Given the description of an element on the screen output the (x, y) to click on. 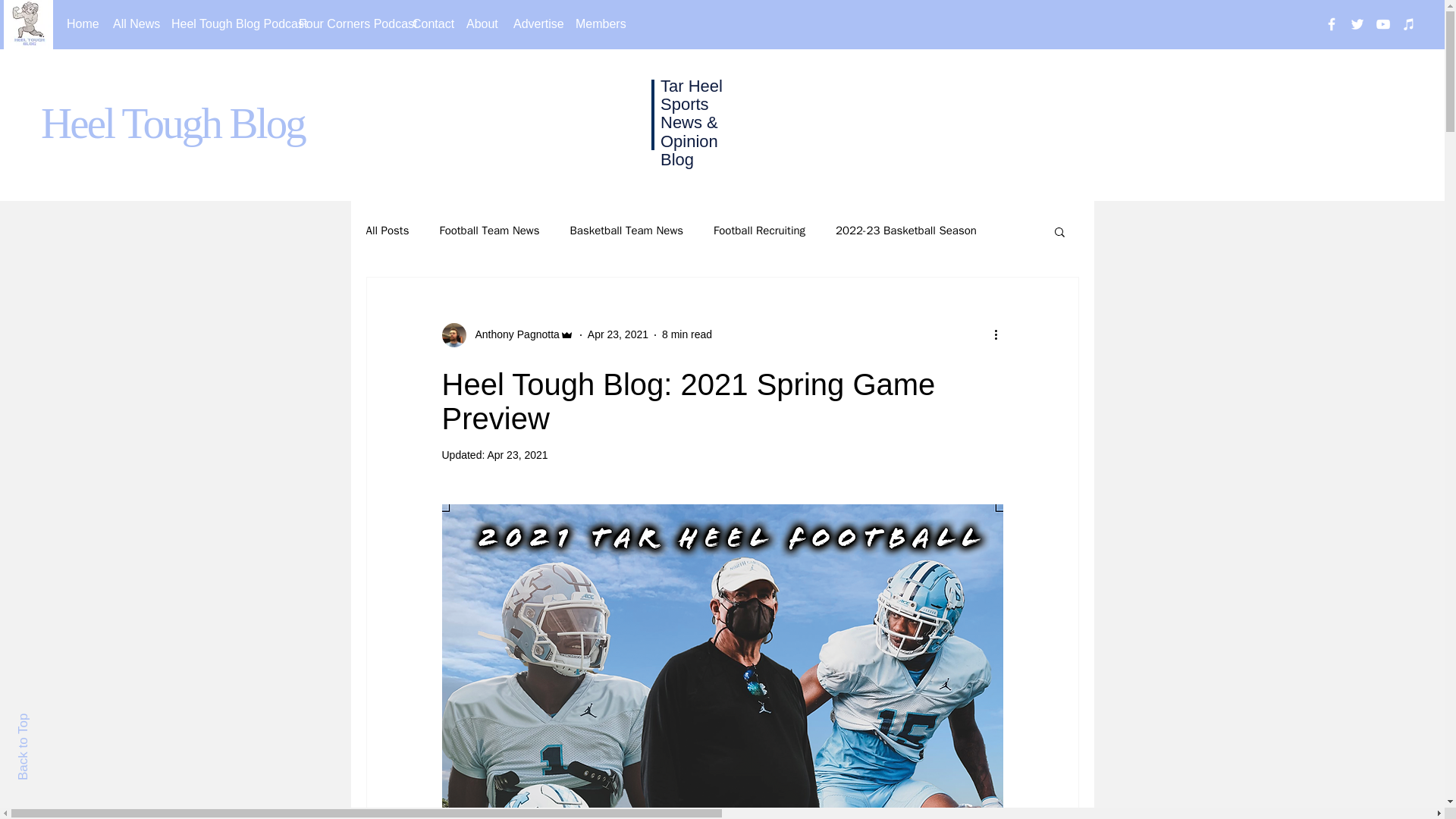
8 min read (686, 334)
Basketball Team News (627, 230)
Members (595, 23)
Four Corners Podcast (343, 23)
About (478, 23)
Heel Tough Blog (172, 123)
Advertise (533, 23)
Anthony Pagnotta (512, 334)
Contact (427, 23)
Home (78, 23)
